Given the description of an element on the screen output the (x, y) to click on. 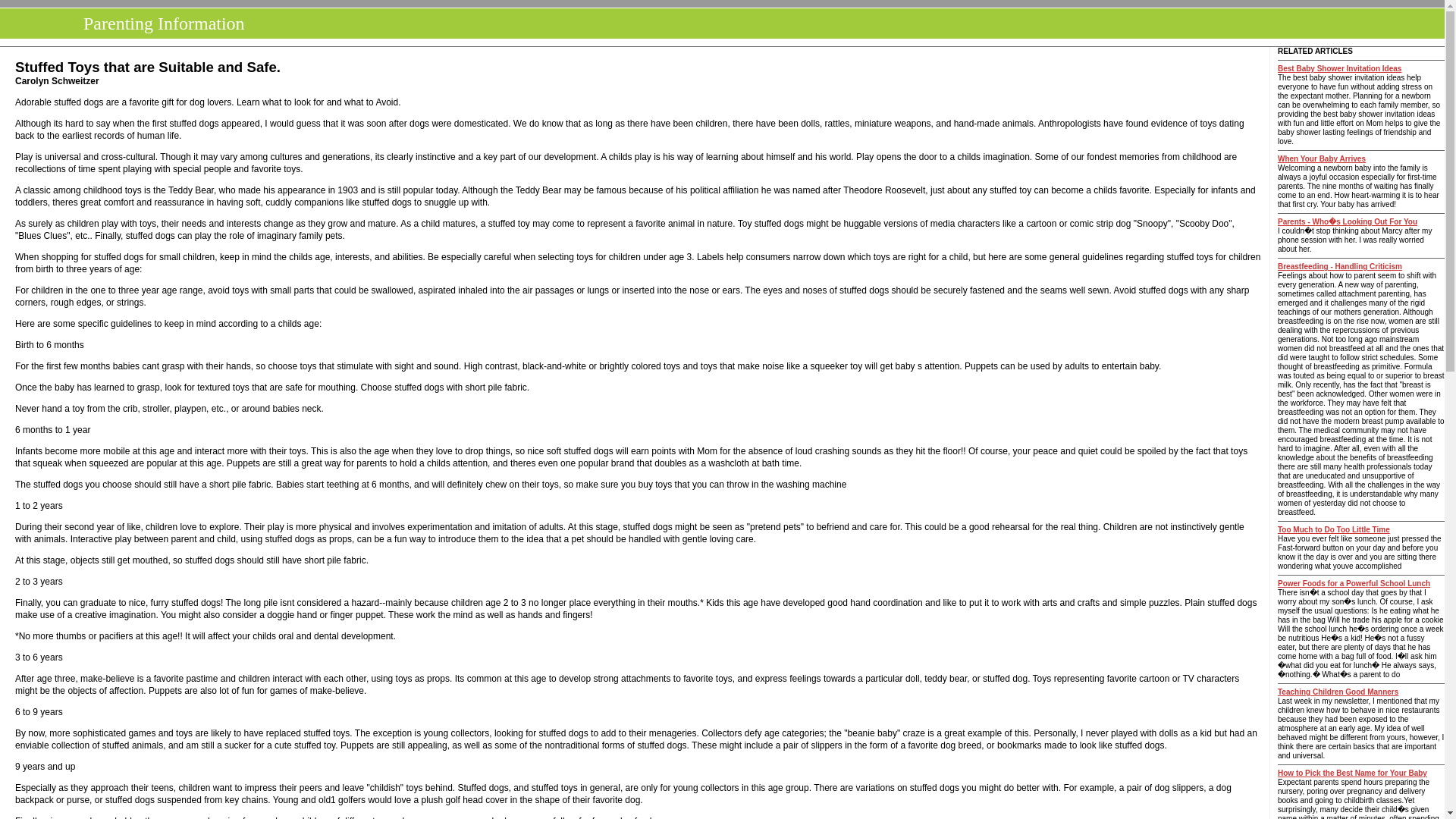
Best Baby Shower Invitation Ideas (1339, 68)
How to Pick the Best Name for Your Baby (1352, 773)
Teaching Children Good Manners (1337, 691)
Parenting Information (159, 23)
When Your Baby Arrives (1321, 158)
Breastfeeding - Handling Criticism (1340, 266)
Power Foods for a Powerful School Lunch (1353, 583)
Too Much to Do Too Little Time (1334, 529)
